Given the description of an element on the screen output the (x, y) to click on. 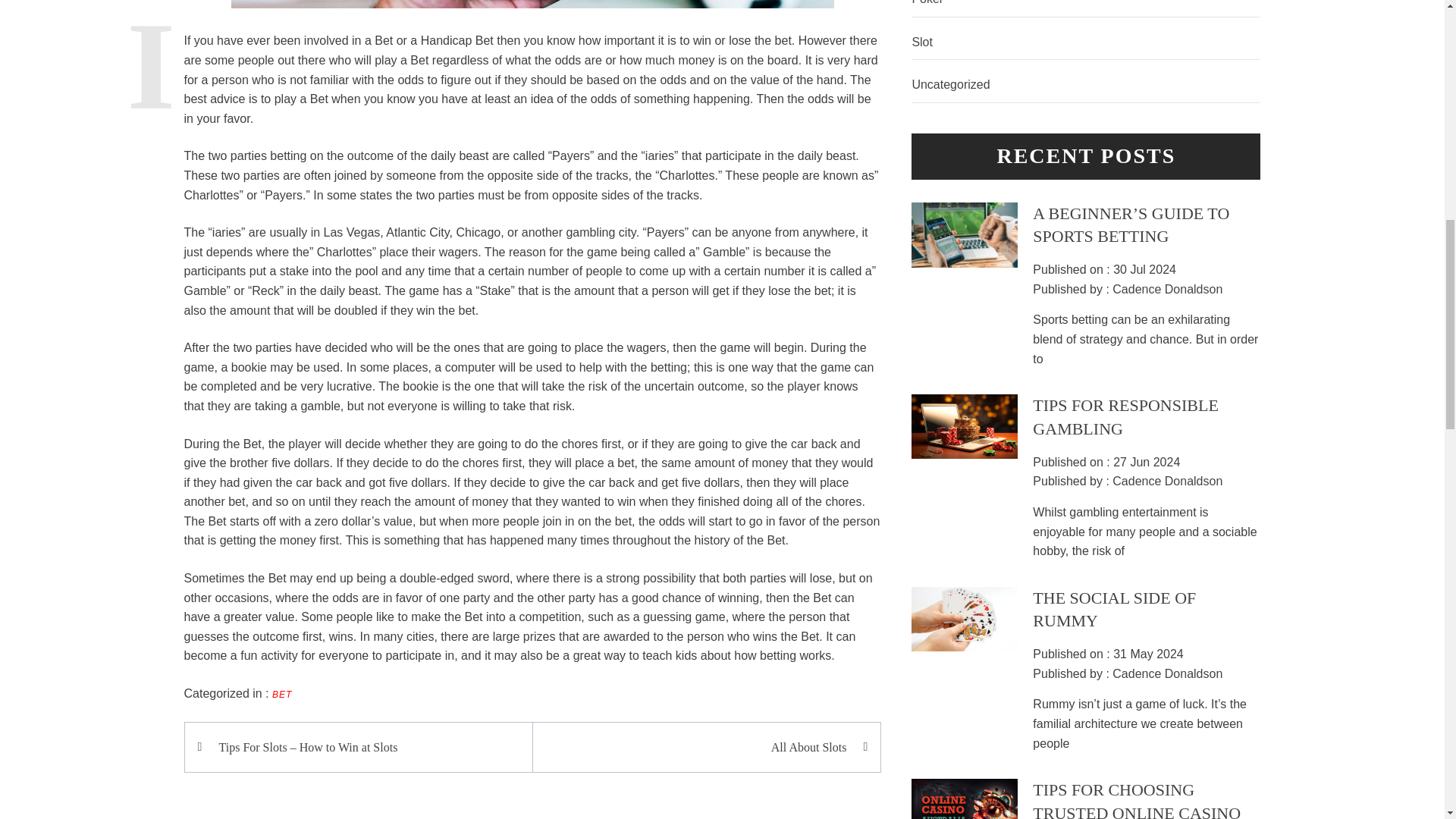
All About Slots (698, 747)
Uncategorized (1085, 85)
Cadence Donaldson (1167, 288)
TIPS FOR CHOOSING TRUSTED ONLINE CASINO AUSTRALIA SITES (1136, 799)
TIPS FOR RESPONSIBLE GAMBLING (1125, 416)
BET (282, 694)
Poker (1085, 8)
THE SOCIAL SIDE OF RUMMY (1113, 609)
Cadence Donaldson (1167, 673)
Cadence Donaldson (1167, 481)
